Given the description of an element on the screen output the (x, y) to click on. 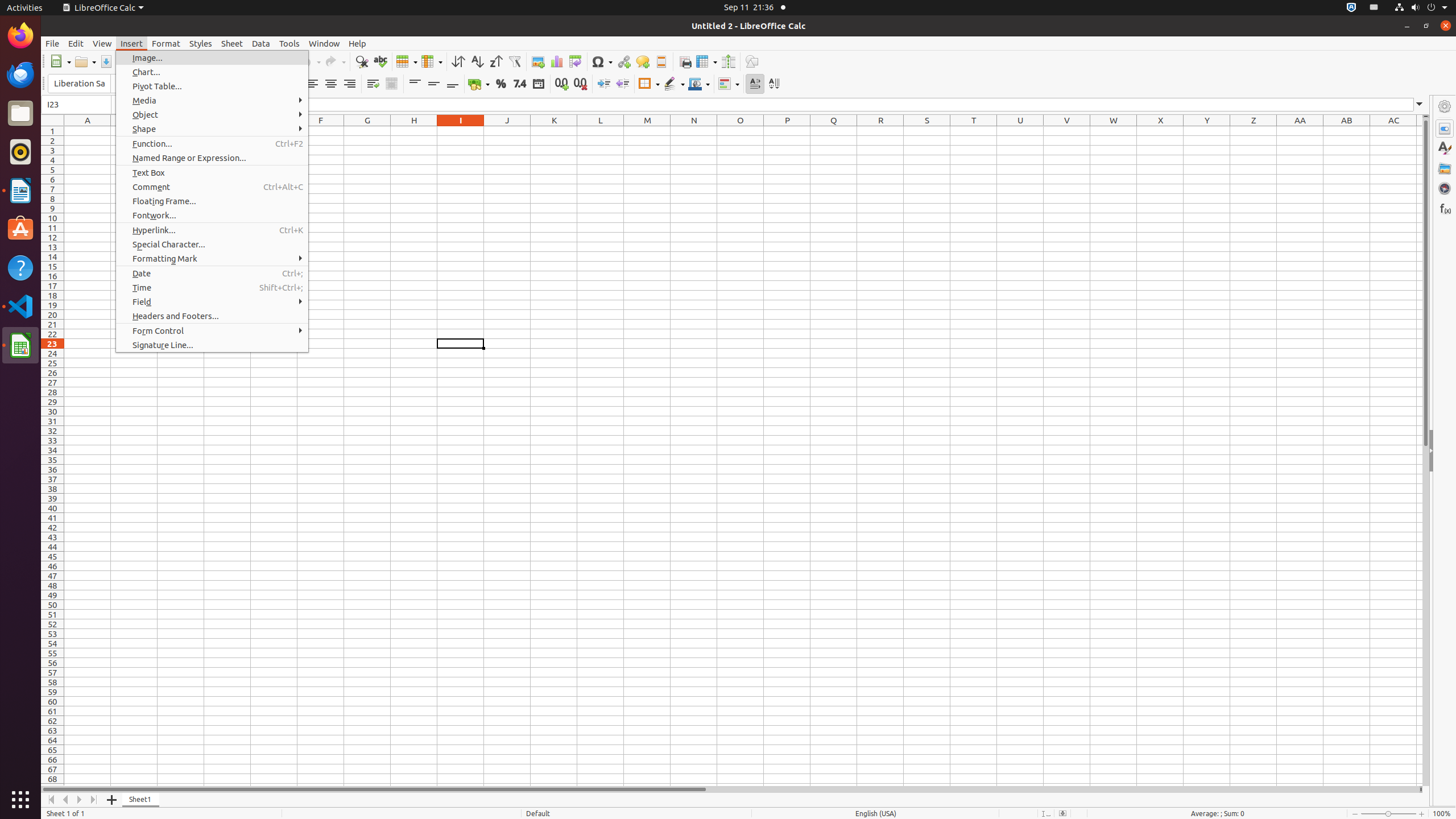
Name Box Element type: text (75, 104)
A1 Element type: table-cell (87, 130)
Expand Formula Bar Element type: push-button (1419, 104)
Move Left Element type: push-button (65, 799)
Media Element type: menu (212, 100)
